Given the description of an element on the screen output the (x, y) to click on. 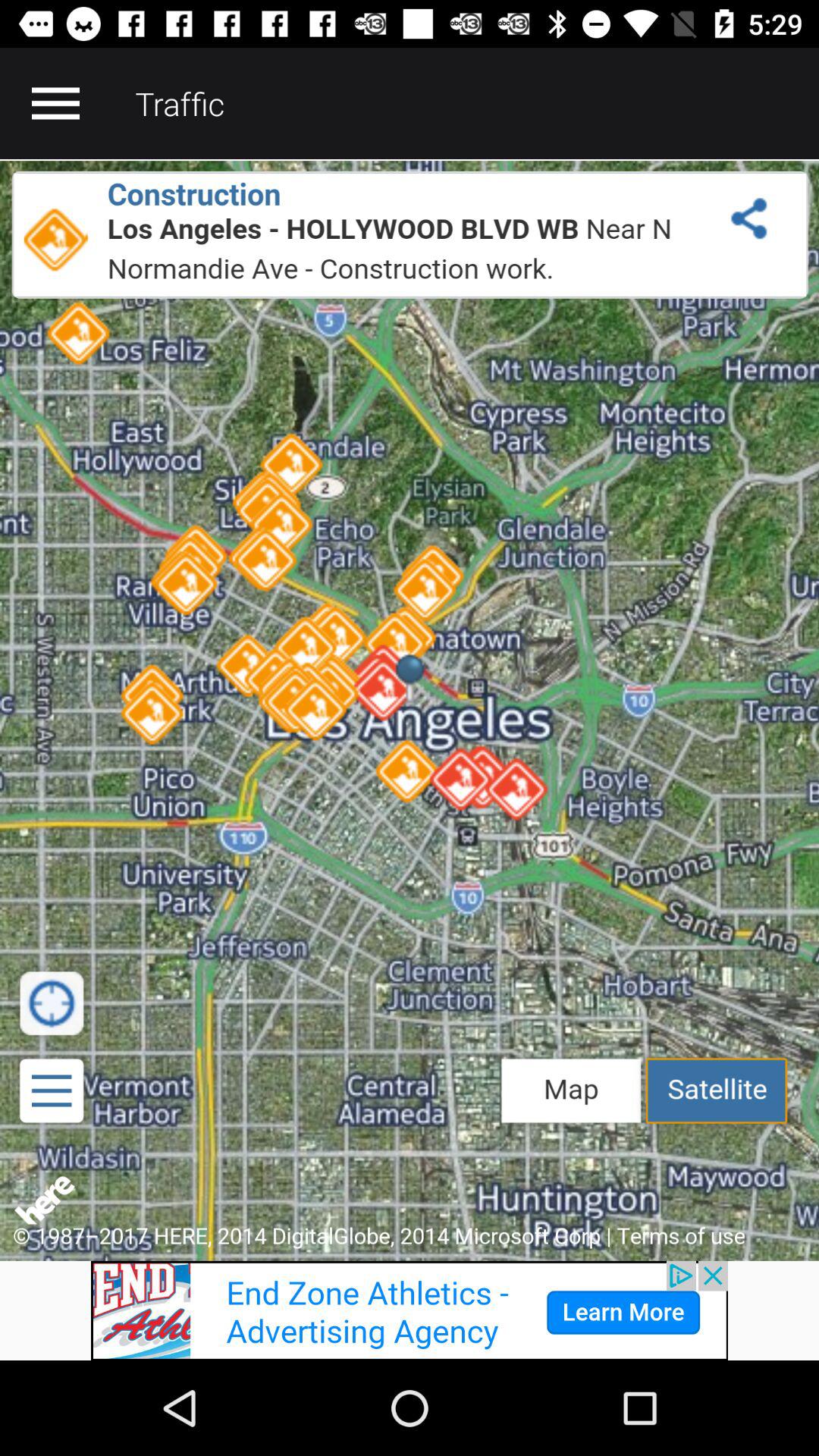
view menu (55, 103)
